Given the description of an element on the screen output the (x, y) to click on. 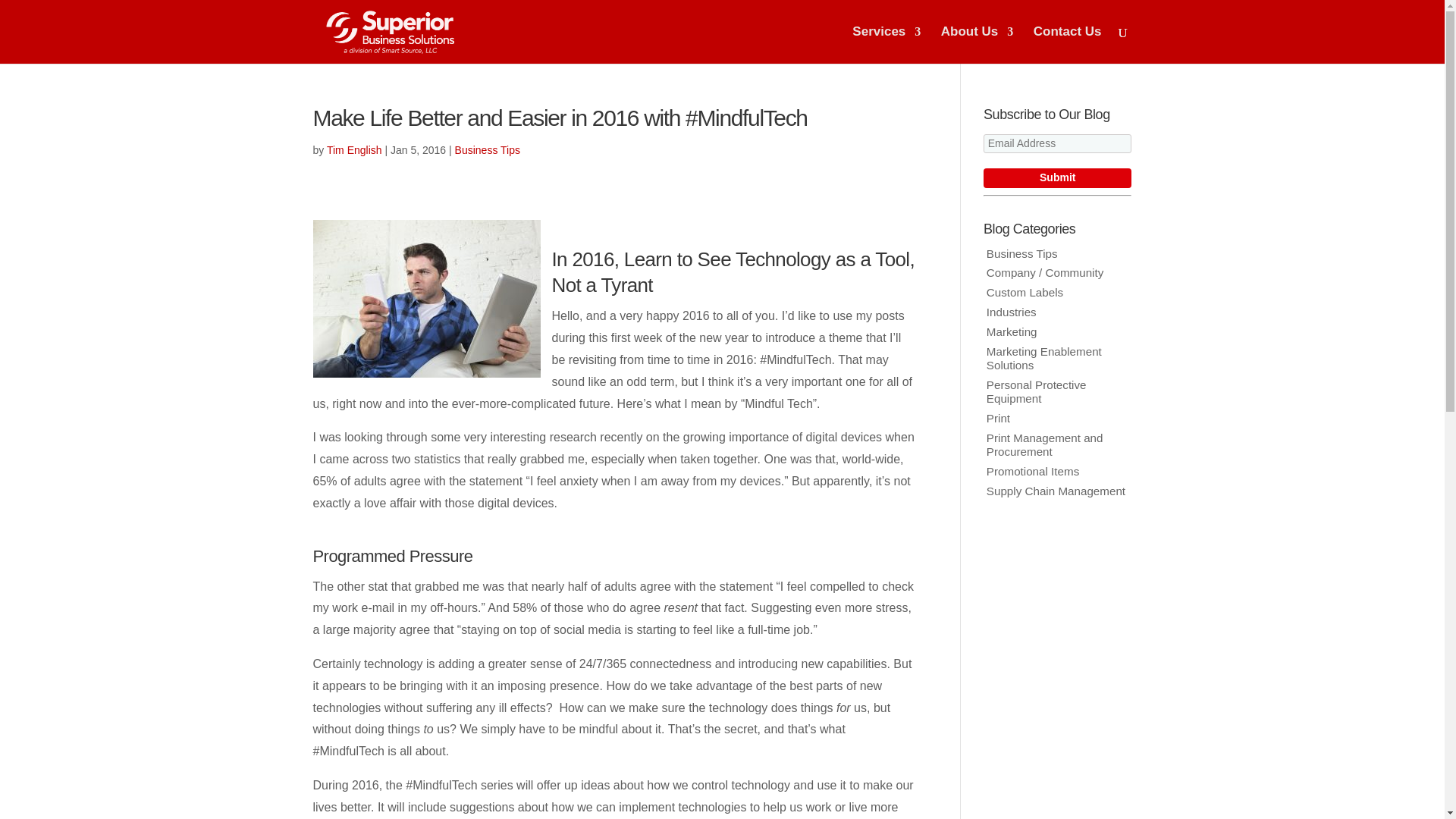
Submit (1057, 178)
Submit (1057, 178)
Tim English (353, 150)
Print Management and Procurement (1045, 444)
Print (998, 418)
Industries (1011, 311)
Custom Labels (1024, 291)
Personal Protective Equipment (1036, 391)
Posts by Tim English (353, 150)
Contact Us (1067, 44)
